Given the description of an element on the screen output the (x, y) to click on. 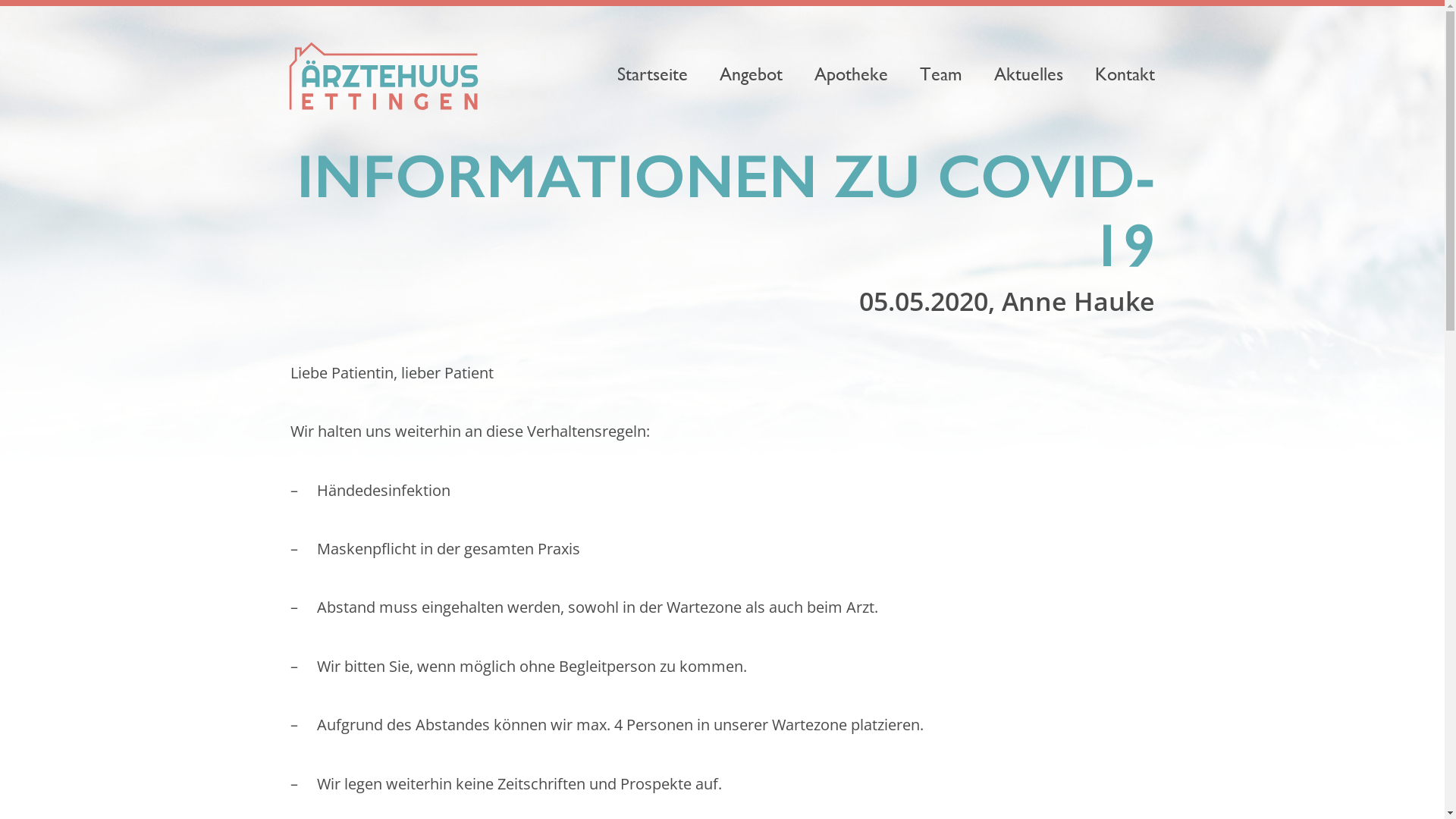
Startseite Element type: text (651, 74)
Angebot Element type: text (750, 74)
Kontakt Element type: text (1123, 74)
Aktuelles Element type: text (1028, 74)
Apotheke Element type: text (850, 74)
Team Element type: text (940, 74)
